Given the description of an element on the screen output the (x, y) to click on. 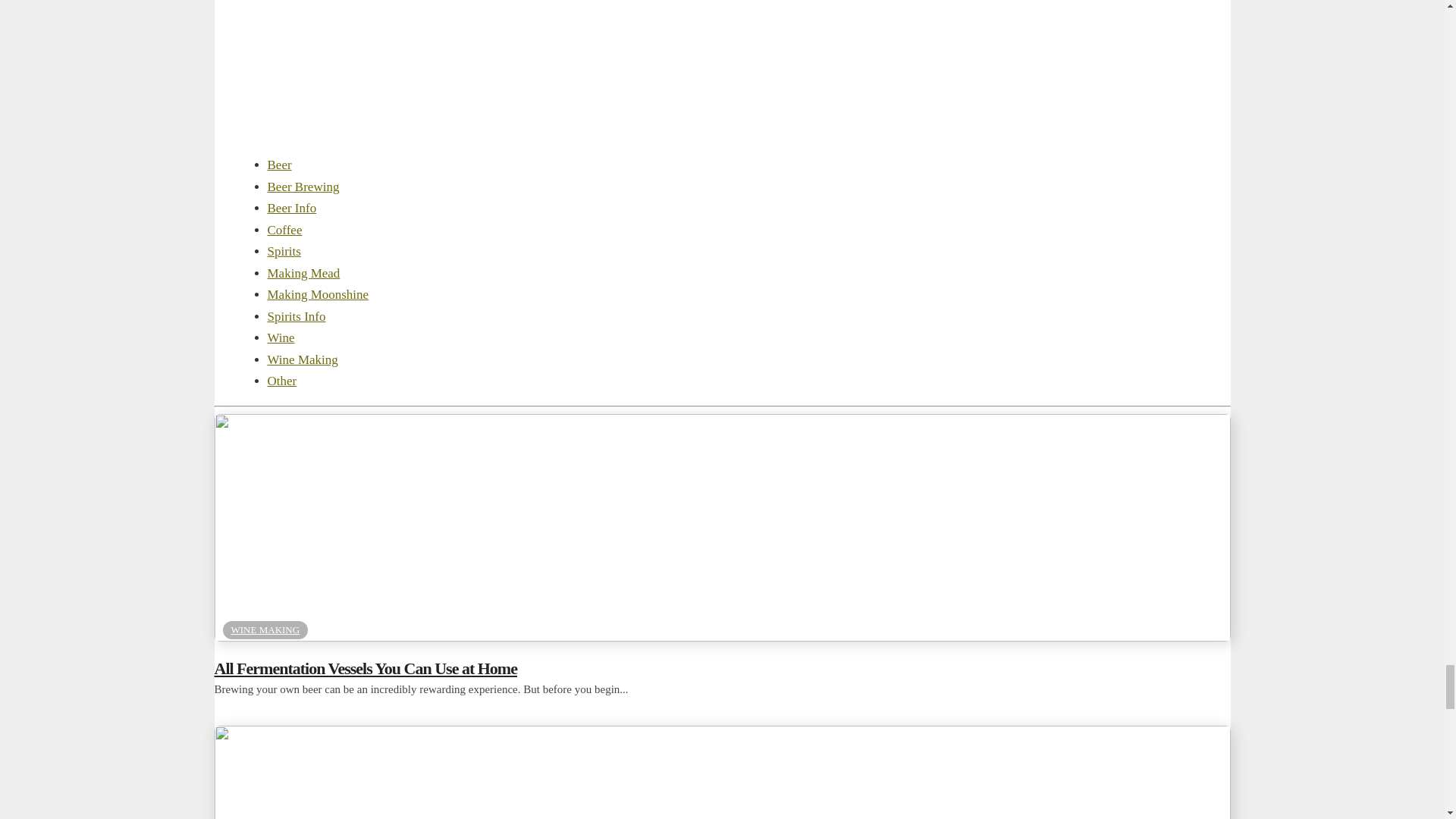
All Fermentation Vessels You Can Use at Home (722, 636)
Beer (278, 164)
Wine (280, 337)
Other (281, 380)
Spirits (282, 251)
Making Moonshine (317, 294)
All Fermentation Vessels You Can Use at Home (722, 668)
Coffee (283, 229)
Making Mead (302, 273)
WINE MAKING (264, 629)
Beer Info (290, 207)
Wine Making (301, 359)
Spirits Info (295, 316)
Beer Brewing (302, 186)
All Fermentation Vessels You Can Use at Home (722, 668)
